Given the description of an element on the screen output the (x, y) to click on. 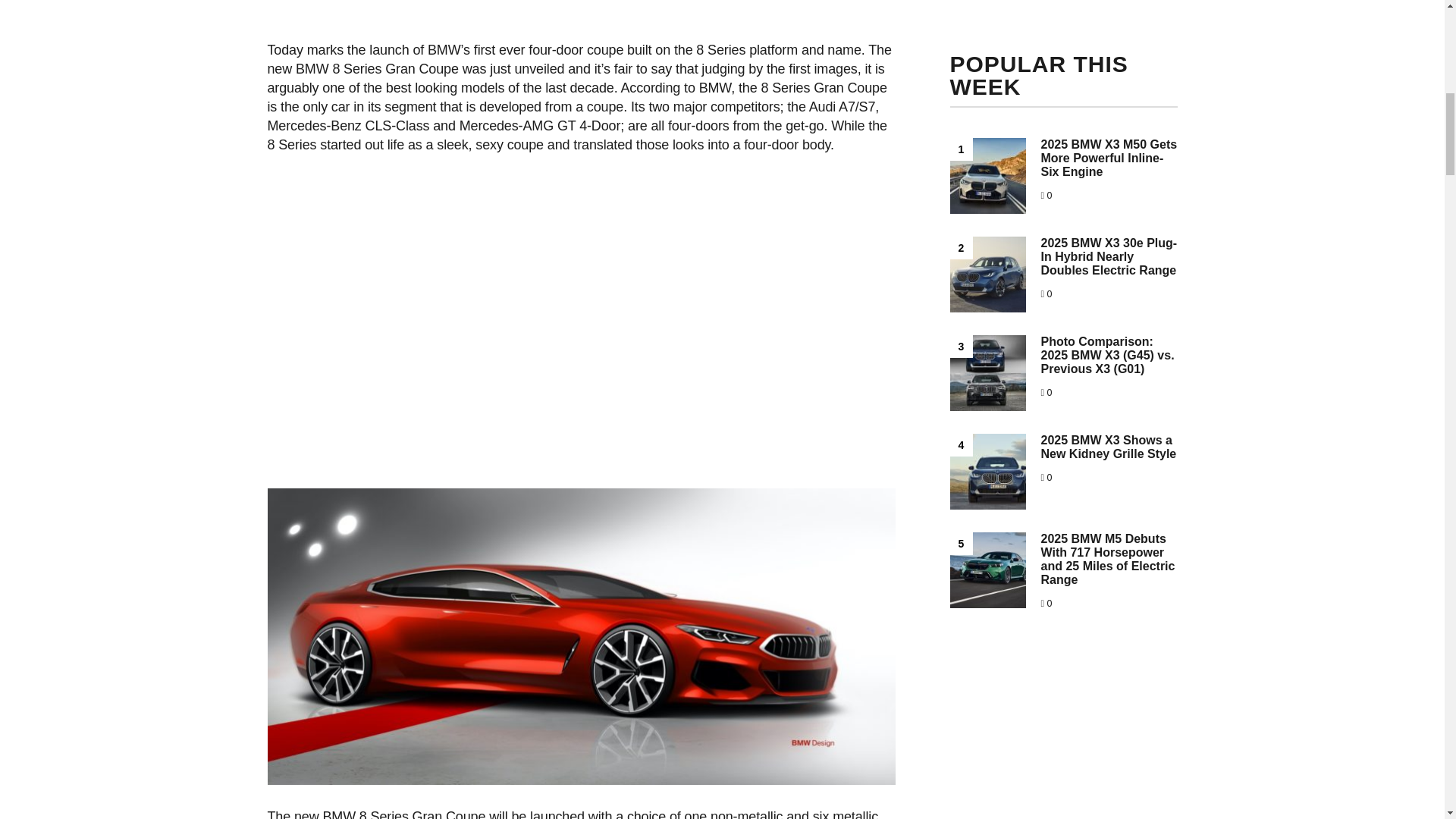
2025 BMW X3 30e Plug-In Hybrid Nearly Doubles Electric Range (1108, 256)
2025 BMW X3 M50 Gets More Powerful Inline-Six Engine (1108, 158)
